Given the description of an element on the screen output the (x, y) to click on. 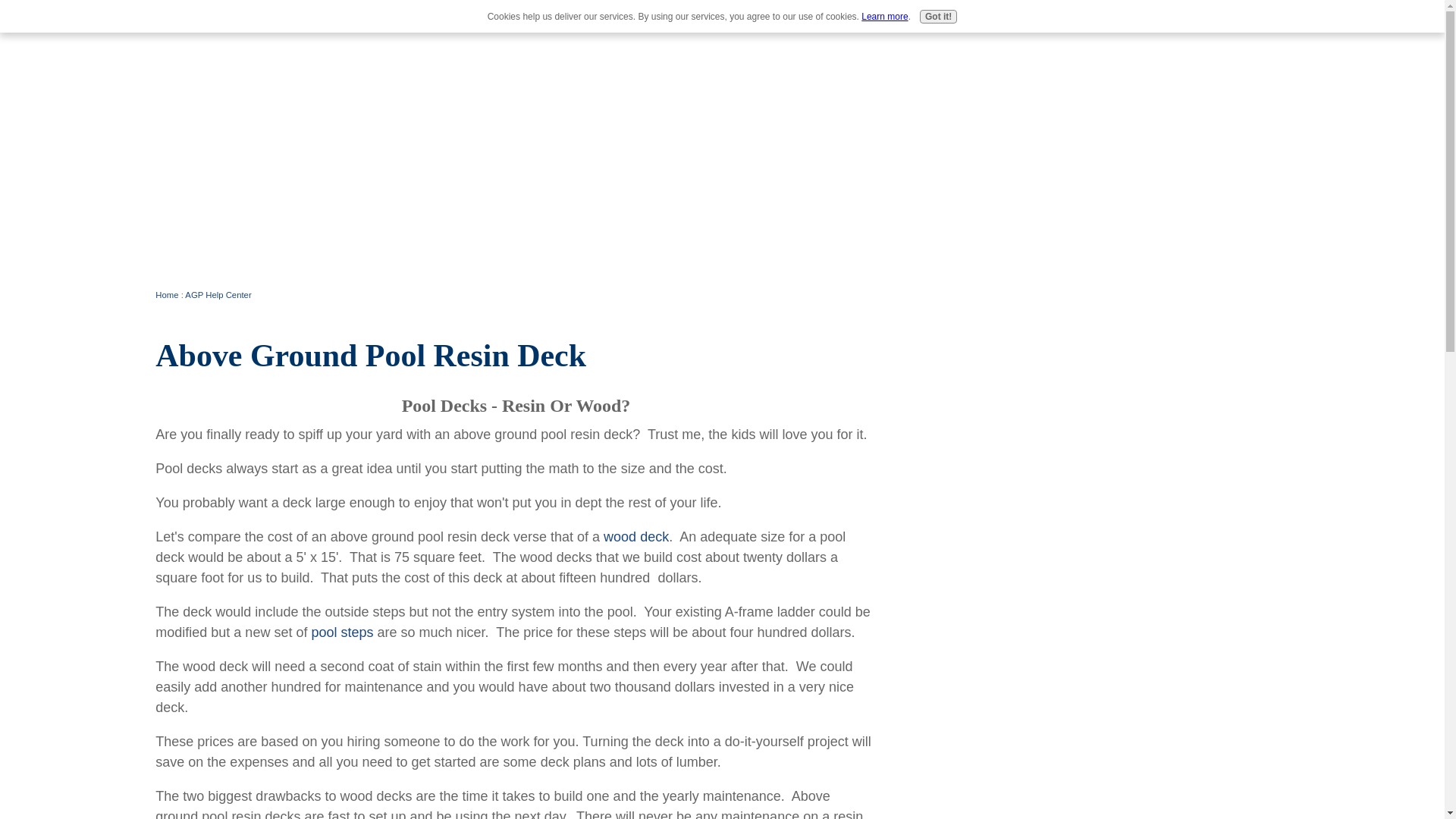
Home (166, 294)
pool steps (341, 631)
Learn more (884, 16)
Got it! (938, 16)
wood deck (636, 536)
AGP Help Center (217, 294)
